Given the description of an element on the screen output the (x, y) to click on. 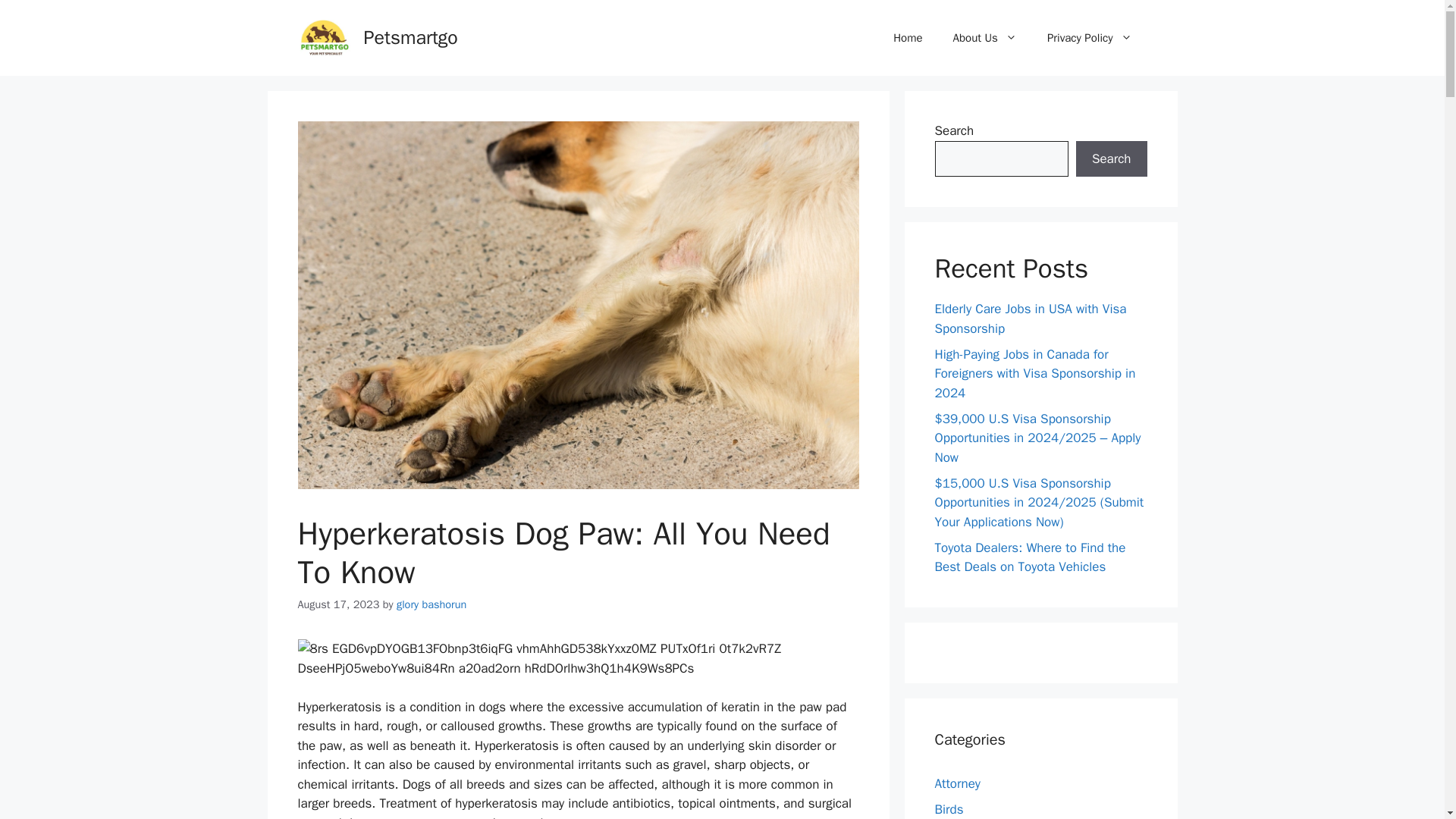
Home (907, 37)
View all posts by glory bashorun (430, 603)
glory bashorun (430, 603)
Birds (948, 808)
Privacy Policy (1089, 37)
Elderly Care Jobs in USA with Visa Sponsorship (1029, 318)
Search (1111, 158)
Attorney (956, 782)
Hyperkeratosis Dog Paw: All You Need To Know 2 (578, 658)
About Us (984, 37)
Petsmartgo (411, 37)
